Given the description of an element on the screen output the (x, y) to click on. 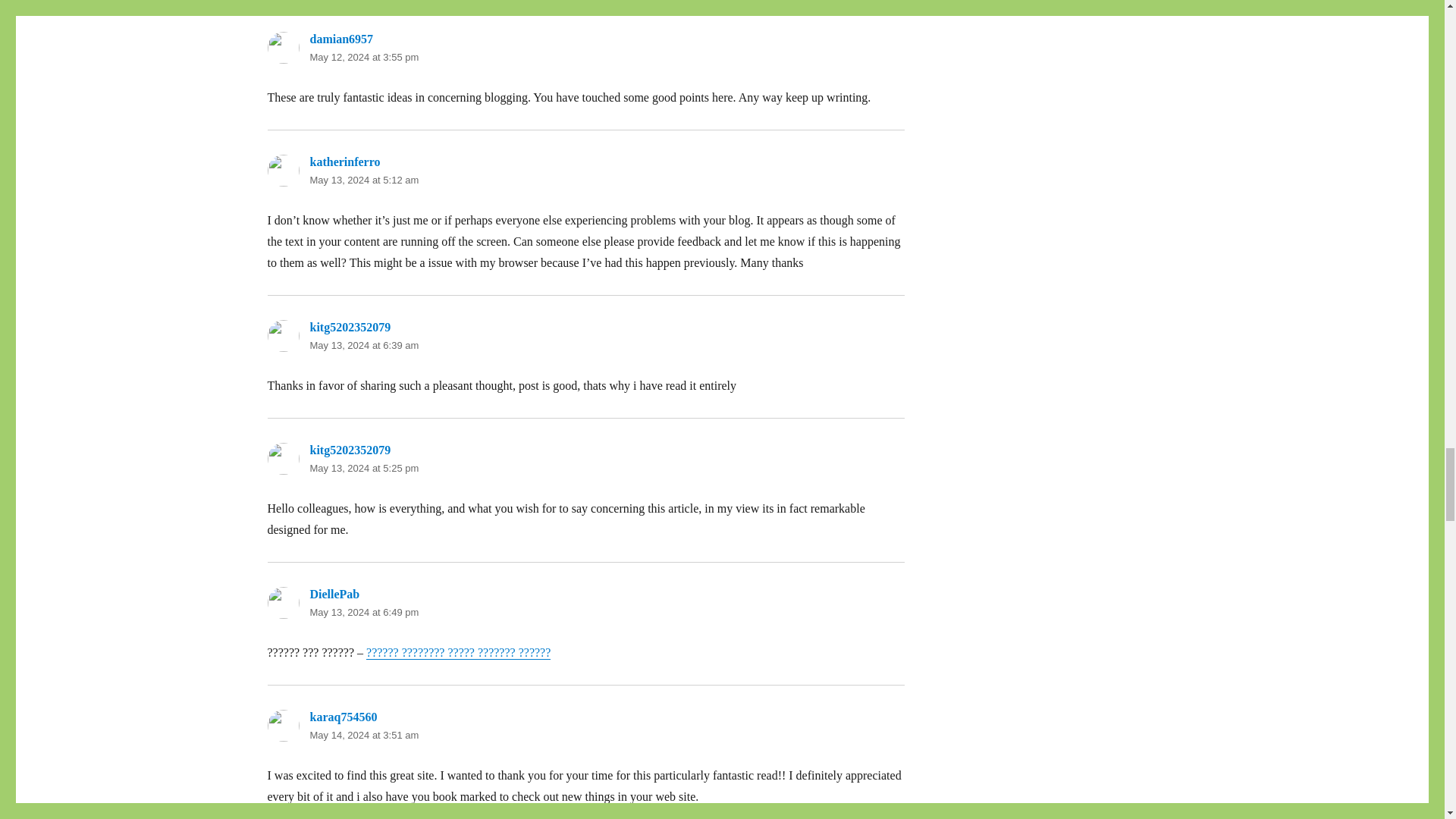
kitg5202352079 (349, 449)
May 13, 2024 at 6:39 am (363, 345)
May 13, 2024 at 5:12 am (363, 179)
katherinferro (344, 161)
May 12, 2024 at 3:55 pm (363, 57)
kitg5202352079 (349, 327)
damian6957 (340, 38)
